Given the description of an element on the screen output the (x, y) to click on. 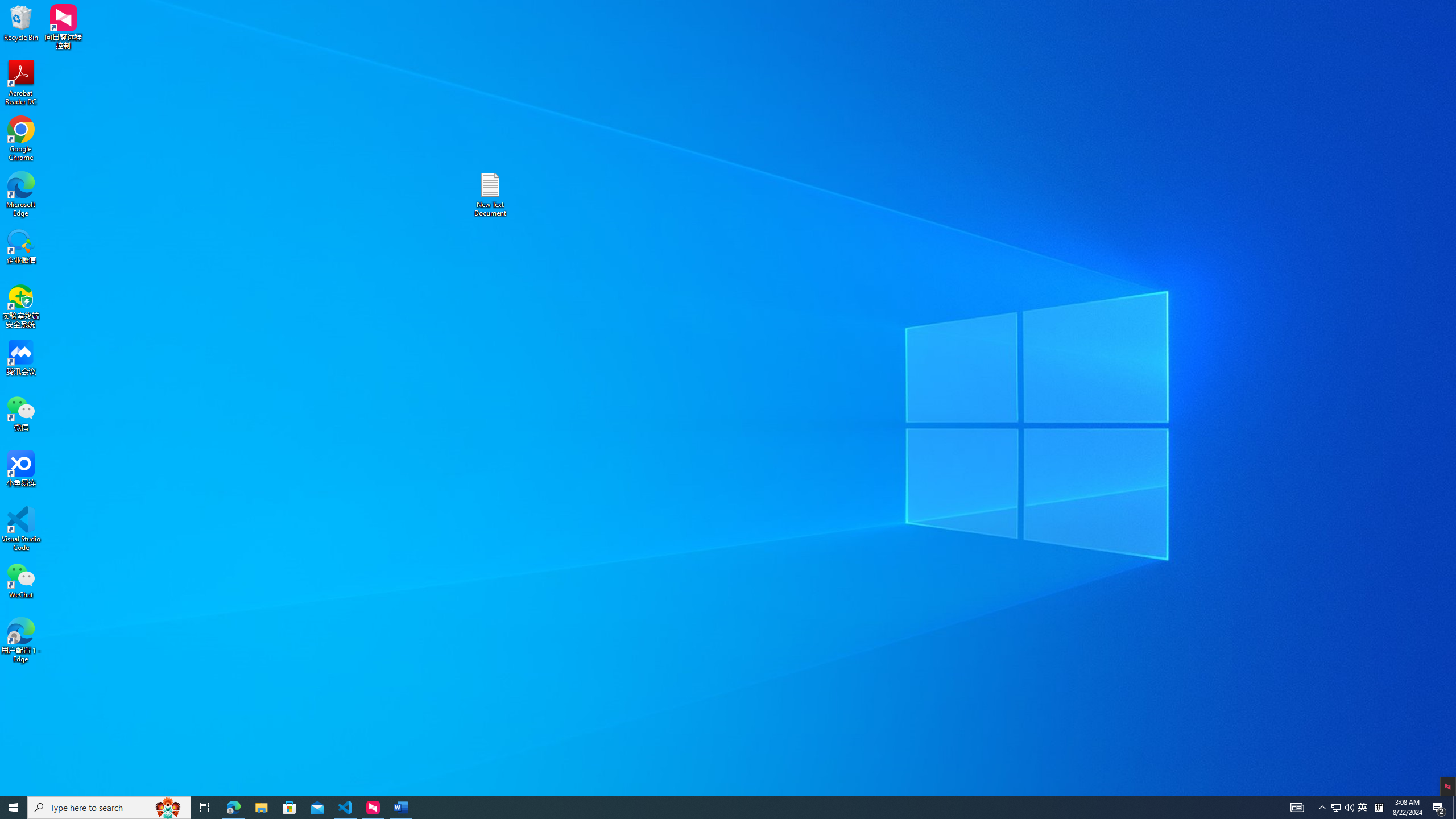
Book Title (1055, 56)
Heading 1 (564, 56)
